Given the description of an element on the screen output the (x, y) to click on. 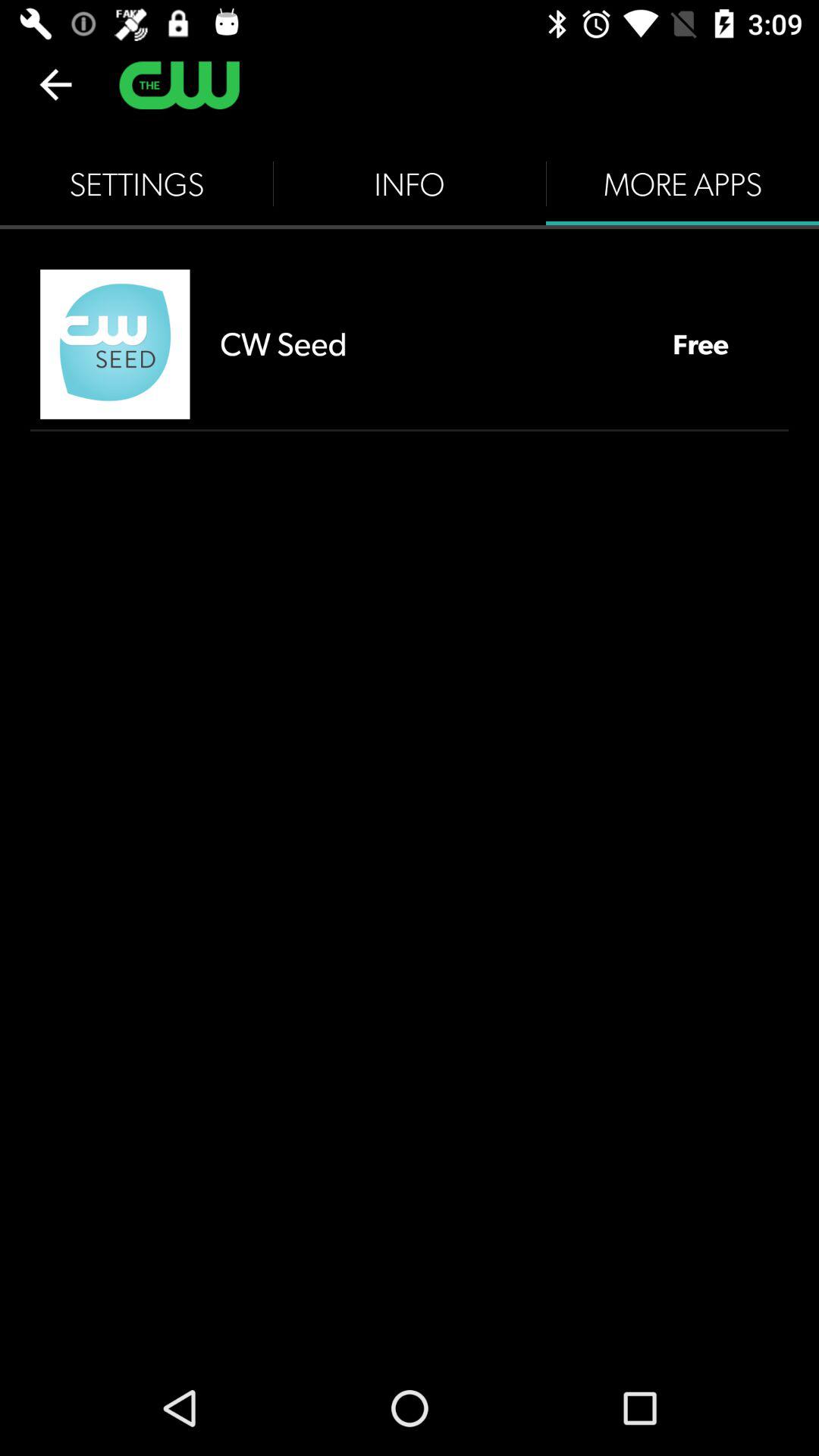
click the icon next to the cw seed icon (700, 343)
